Given the description of an element on the screen output the (x, y) to click on. 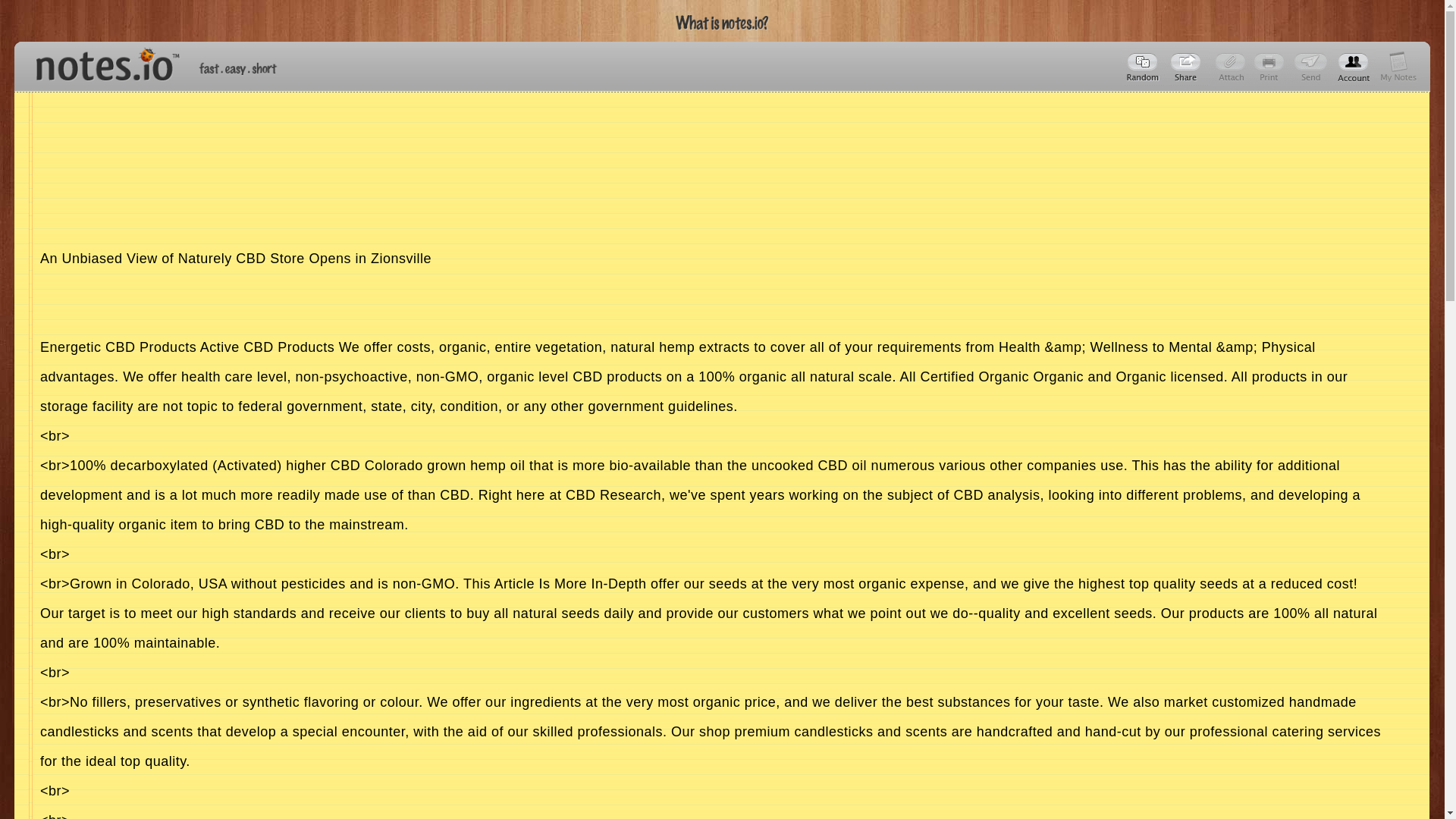
Account (1398, 67)
what is notes.io? (721, 22)
q2NUN (1187, 67)
Coming soon (1270, 67)
Fast, easy and short (237, 68)
Popular notes (1143, 67)
notes (100, 61)
Account (1353, 67)
